Given the description of an element on the screen output the (x, y) to click on. 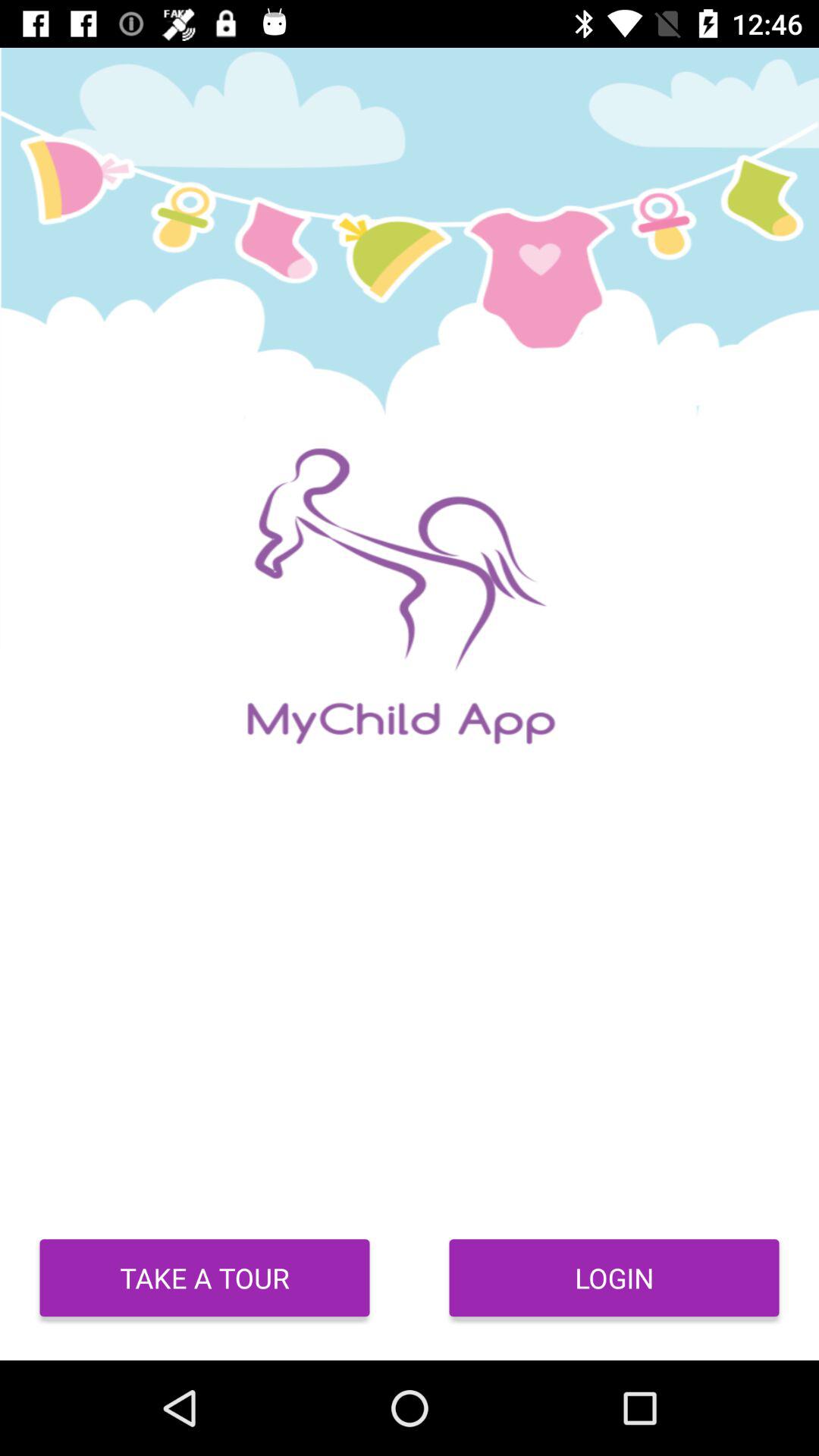
turn off take a tour icon (204, 1277)
